Given the description of an element on the screen output the (x, y) to click on. 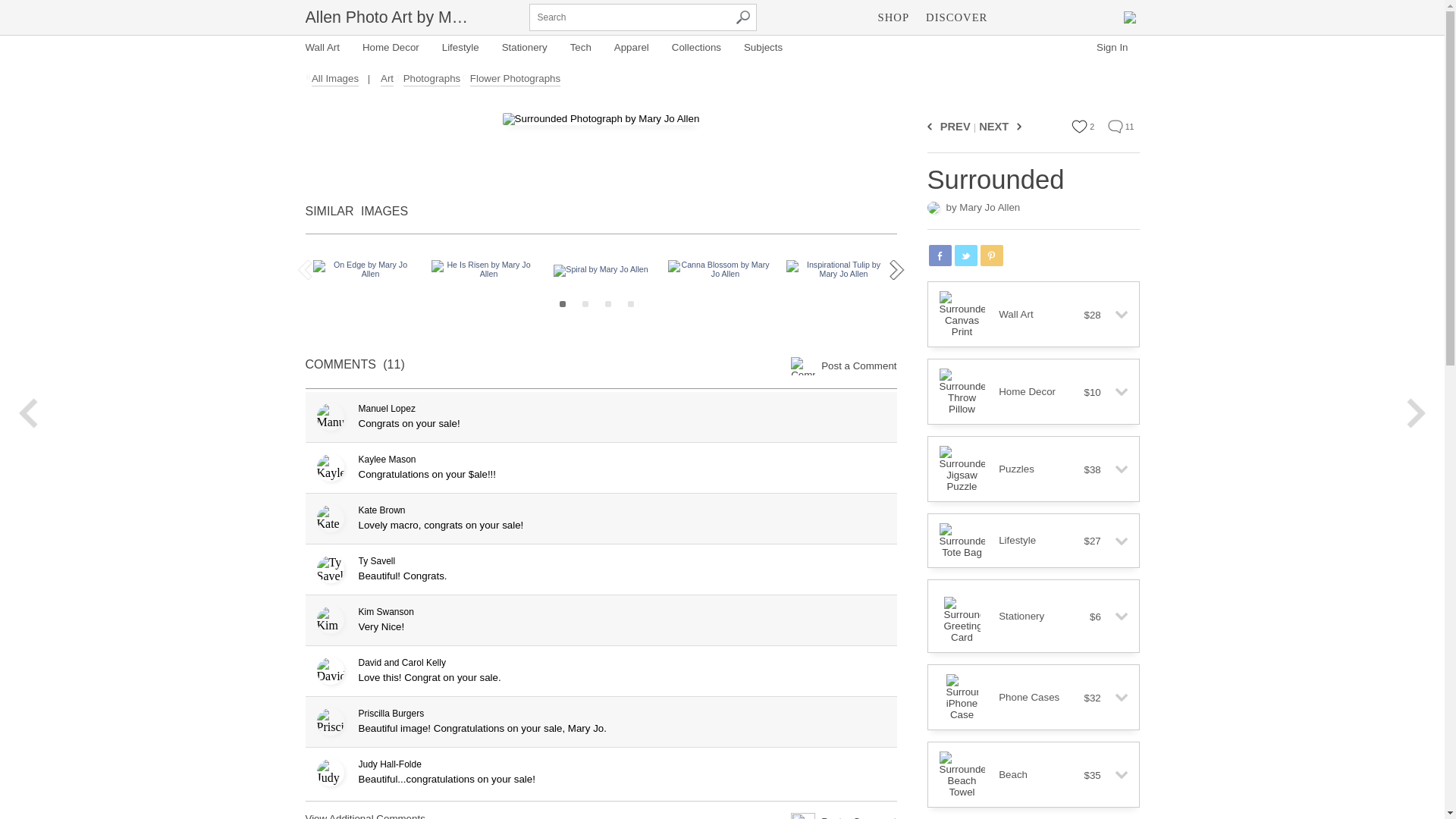
Search (742, 17)
Expand Product (1114, 314)
Allen Photo Art by Mary Jo Allen (390, 16)
Favorite (1079, 126)
Share Product on Pinterest (991, 255)
SHOP (892, 16)
Next Image (1016, 126)
Share Product on Twitter (964, 255)
Surrounded Canvas Print (961, 314)
Surrounded Photograph by Mary Jo Allen (601, 119)
Previous Image (931, 126)
Share Product on Facebook (939, 255)
Comment (1115, 126)
DISCOVER (956, 16)
